Given the description of an element on the screen output the (x, y) to click on. 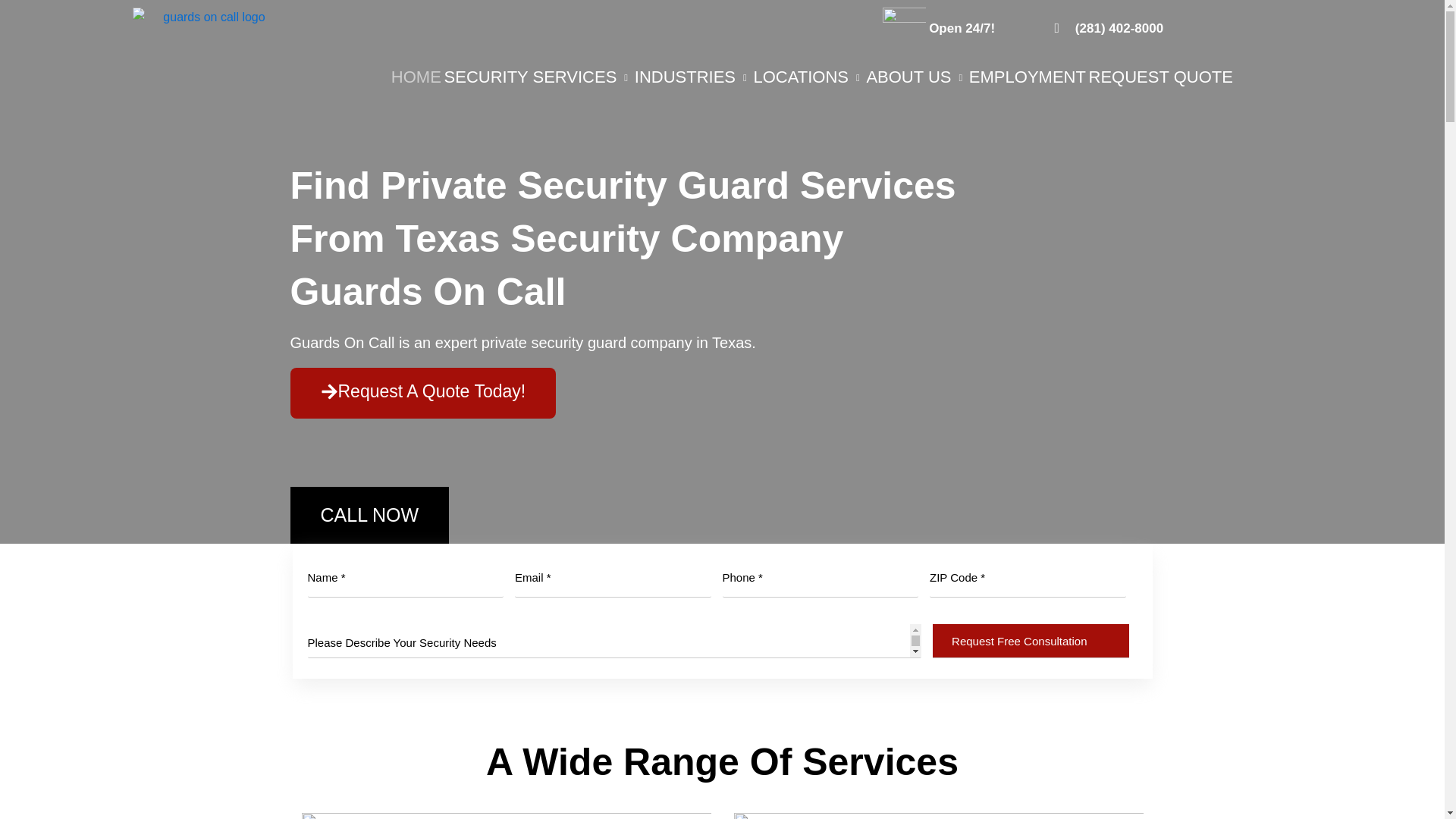
LOCATIONS (807, 77)
SECURITY SERVICES (537, 77)
Request Free Consultation (1031, 641)
HOME (416, 77)
INDUSTRIES (692, 77)
